Given the description of an element on the screen output the (x, y) to click on. 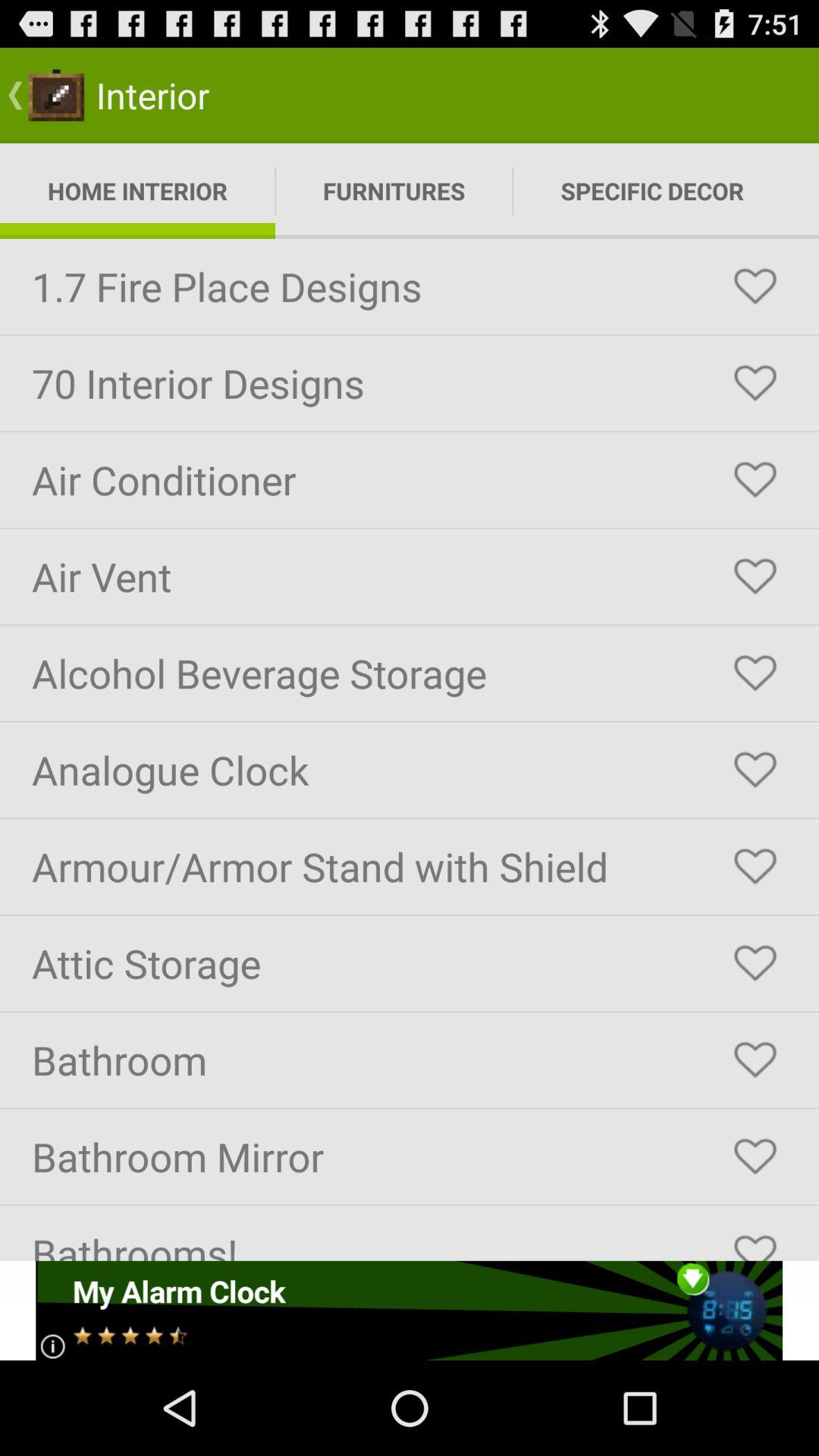
add to favourite (755, 576)
